Given the description of an element on the screen output the (x, y) to click on. 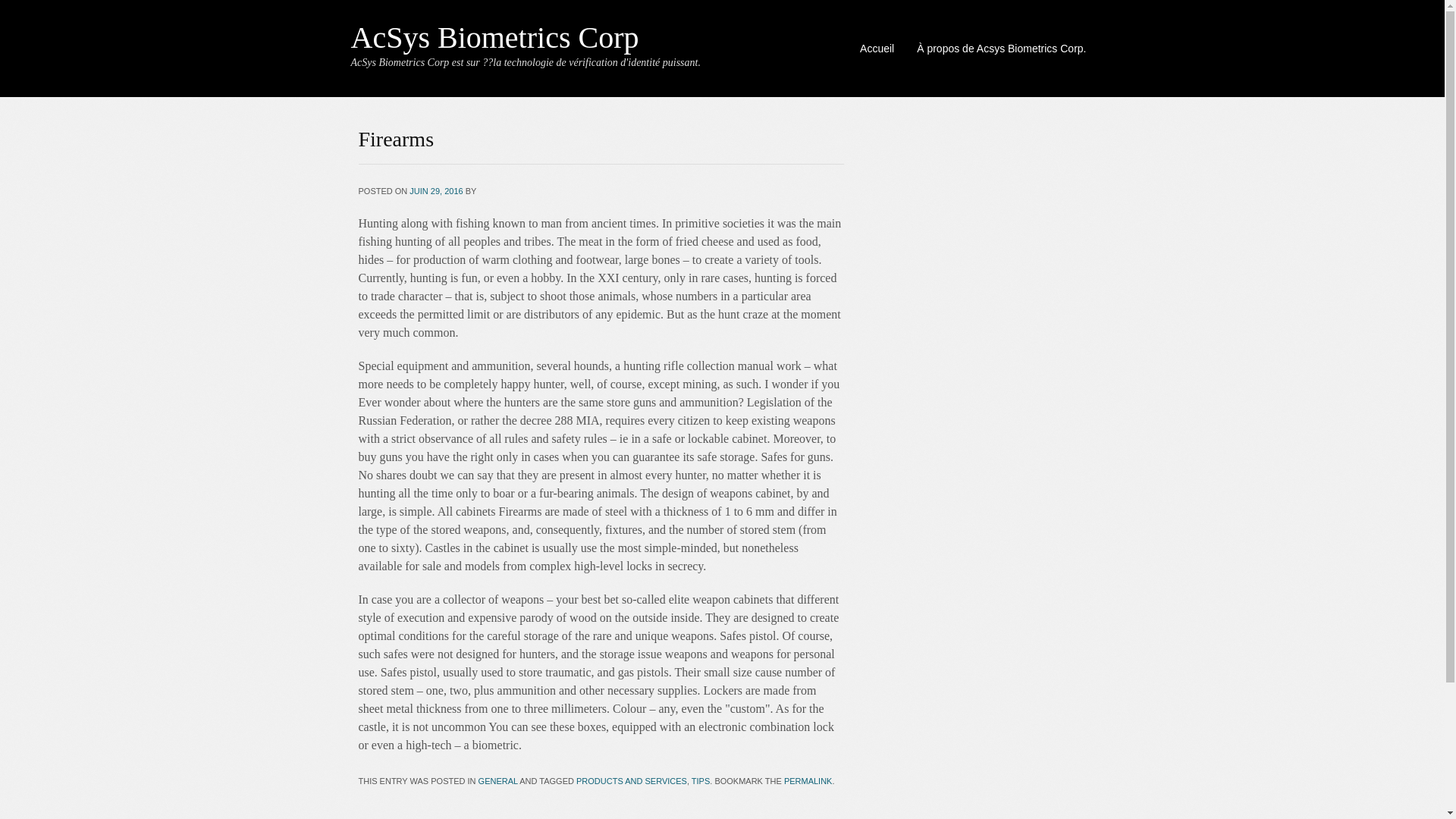
Accueil (876, 47)
AcSys Biometrics Corp (494, 37)
AcSys Biometrics Corp (494, 37)
TIPS (700, 780)
Permalink to Firearms (808, 780)
PRODUCTS AND SERVICES (631, 780)
GENERAL (498, 780)
JUIN 29, 2016 (436, 190)
PERMALINK (808, 780)
